Given the description of an element on the screen output the (x, y) to click on. 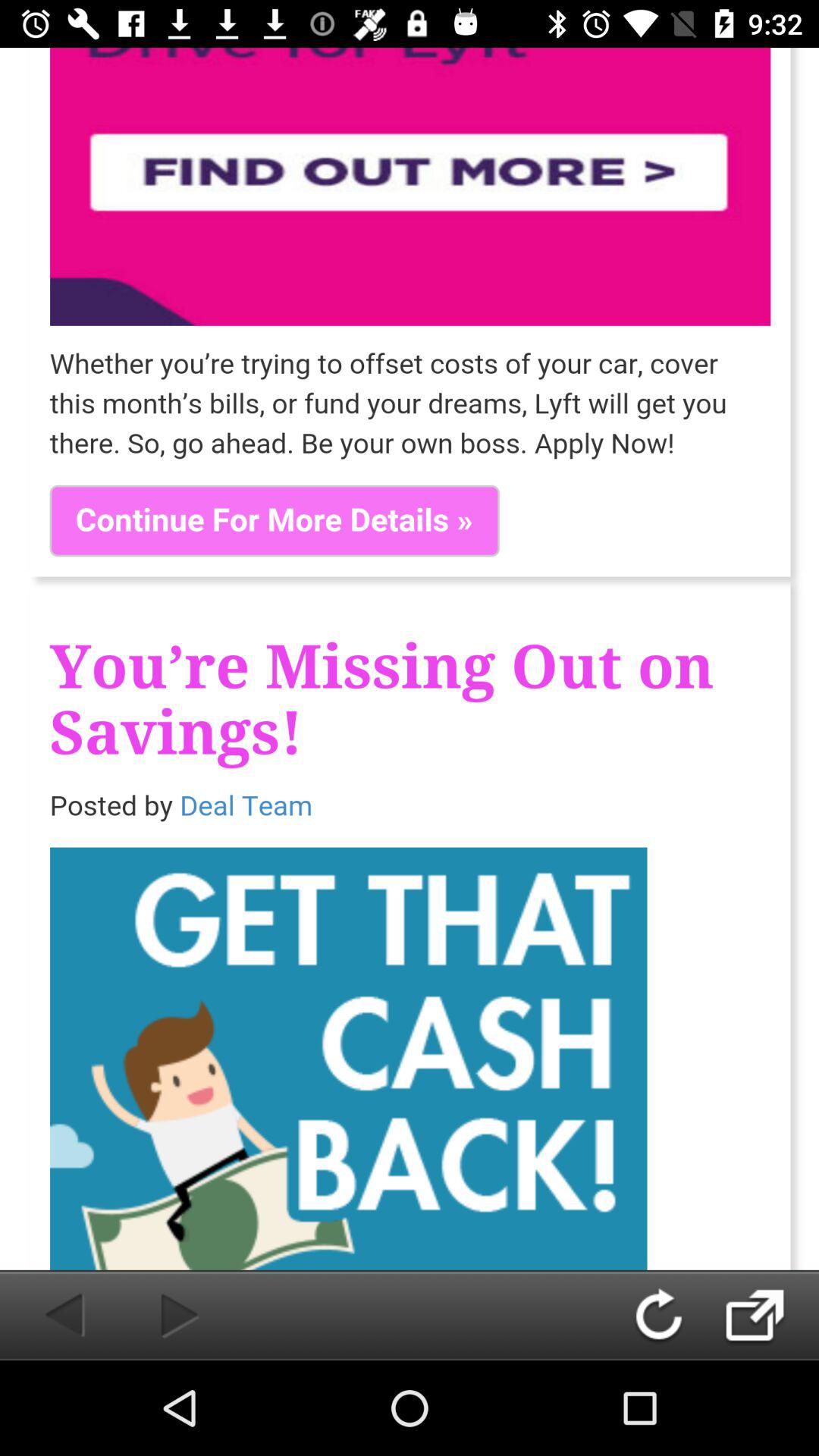
go back button (48, 1315)
